Given the description of an element on the screen output the (x, y) to click on. 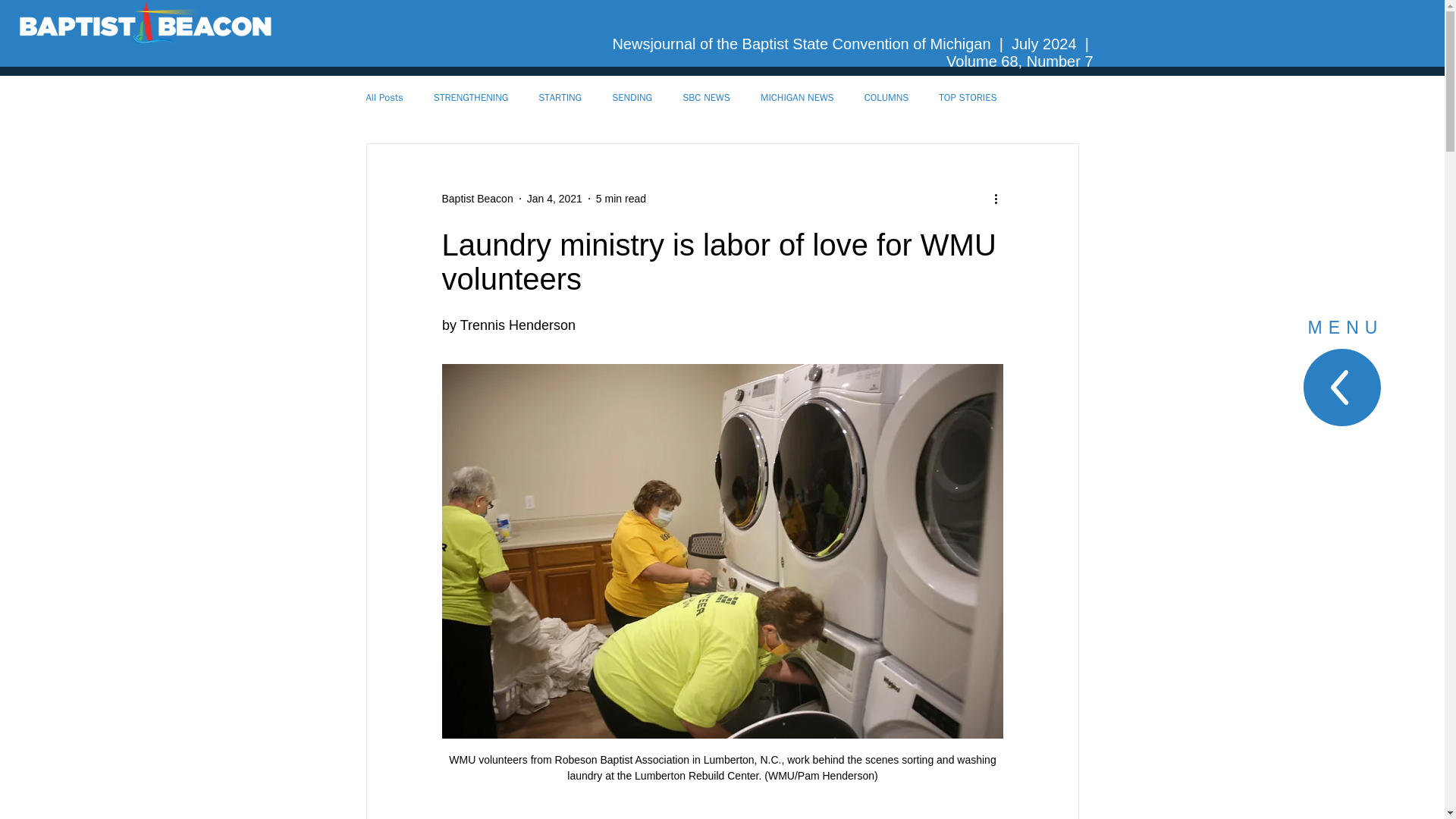
STRENGTHENING (470, 97)
SBC NEWS (706, 97)
COLUMNS (886, 97)
All Posts (384, 97)
Baptist Beacon (476, 198)
MICHIGAN NEWS (797, 97)
STARTING (559, 97)
5 min read (620, 198)
SENDING (631, 97)
TOP STORIES (967, 97)
Jan 4, 2021 (554, 198)
